Given the description of an element on the screen output the (x, y) to click on. 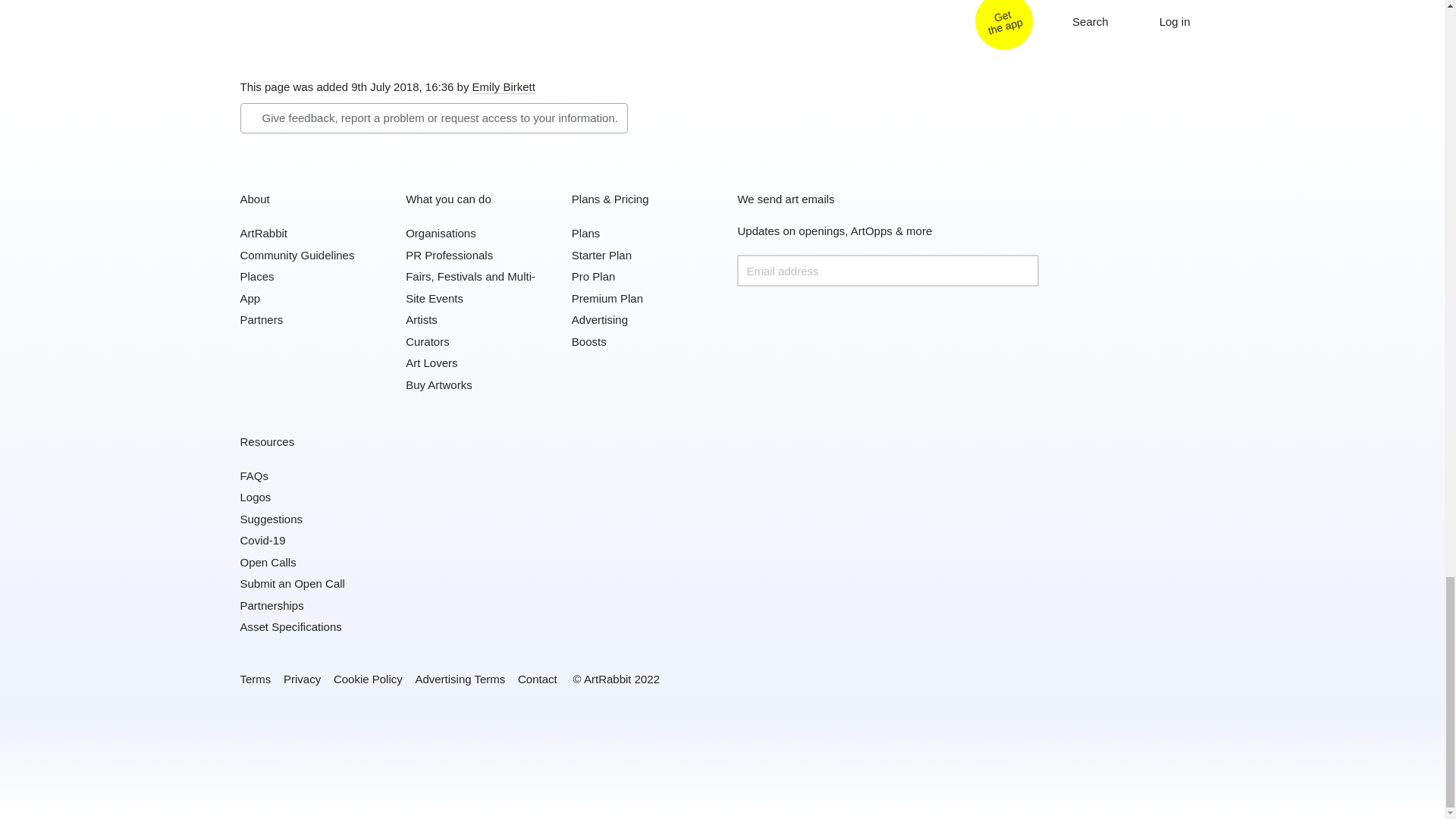
submit (1021, 270)
